Given the description of an element on the screen output the (x, y) to click on. 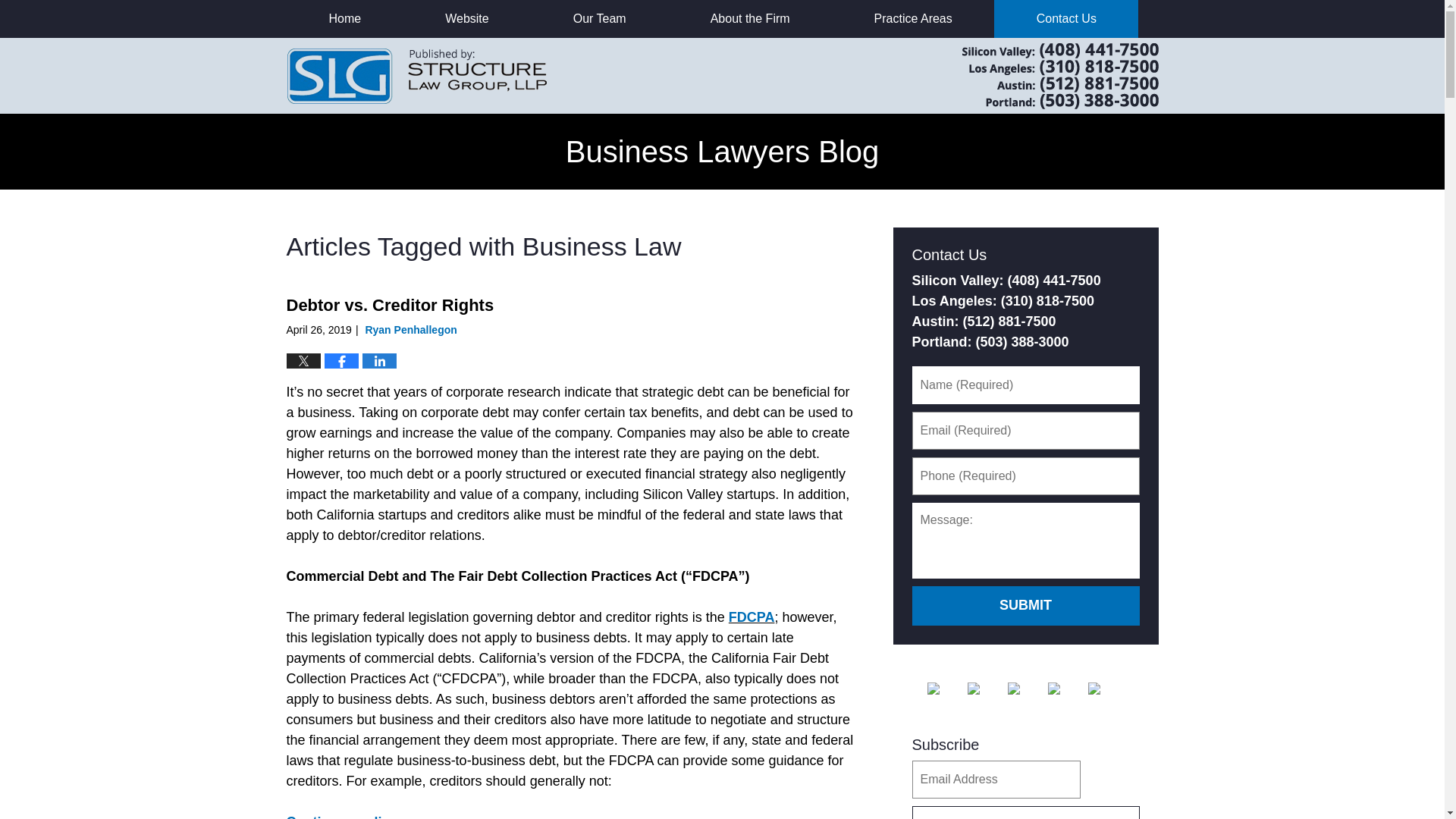
Structure Law Group, LLP (1040, 75)
Debtor vs. Creditor Rights (390, 304)
Our Team (599, 18)
Permalink to Debtor vs. Creditor Rights (390, 304)
Website (467, 18)
Practice Areas (912, 18)
Home (344, 18)
Business Lawyers Blog (416, 75)
Contact Us (1066, 18)
FDCPA (751, 616)
